Given the description of an element on the screen output the (x, y) to click on. 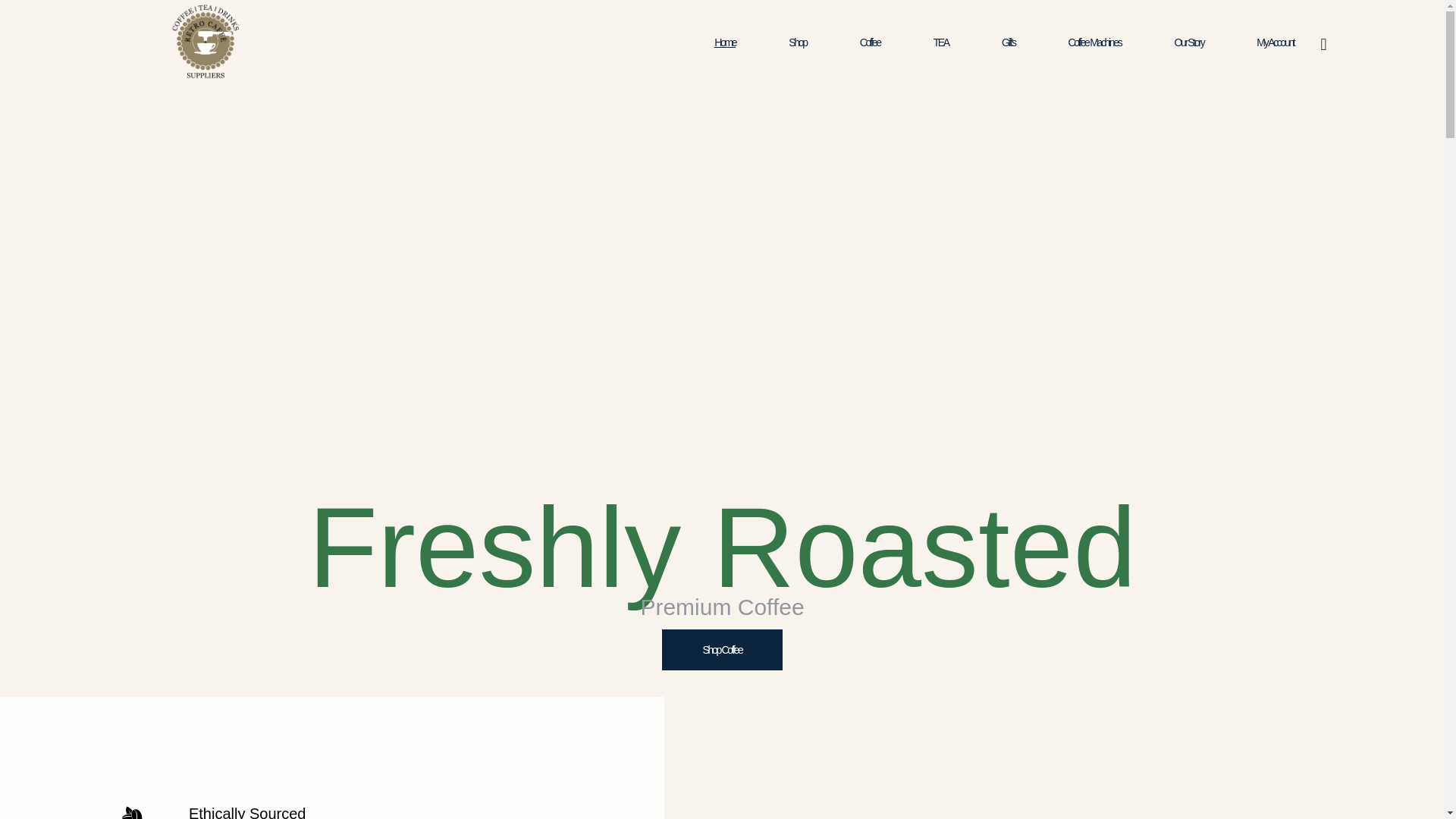
Coffee Machines (1094, 41)
Home (724, 41)
Our Story (1188, 41)
My Account (1275, 41)
TEA (941, 41)
Shop (797, 41)
Coffee (870, 41)
